Given the description of an element on the screen output the (x, y) to click on. 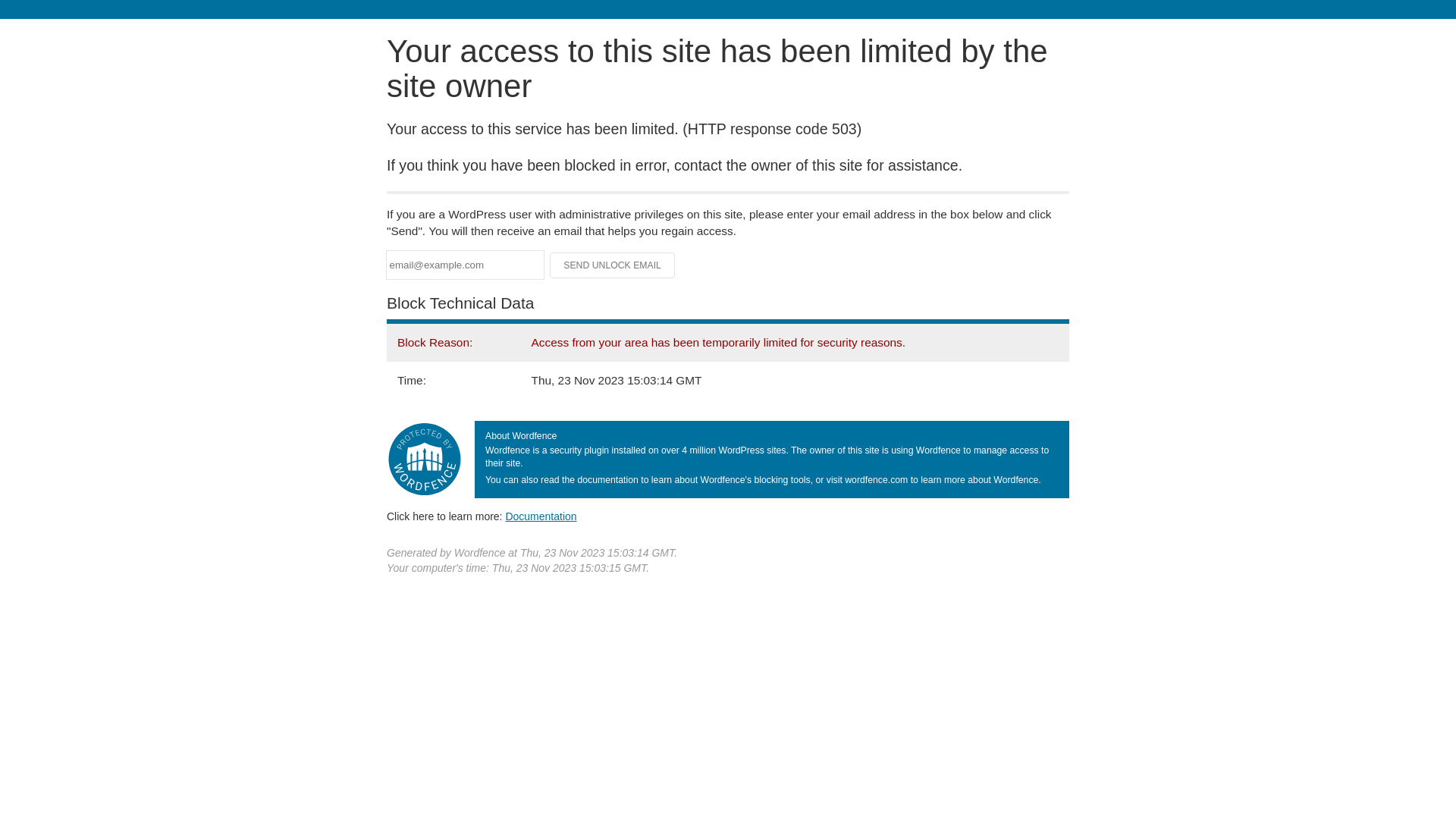
Send Unlock Email Element type: text (612, 265)
Documentation Element type: text (540, 516)
